Given the description of an element on the screen output the (x, y) to click on. 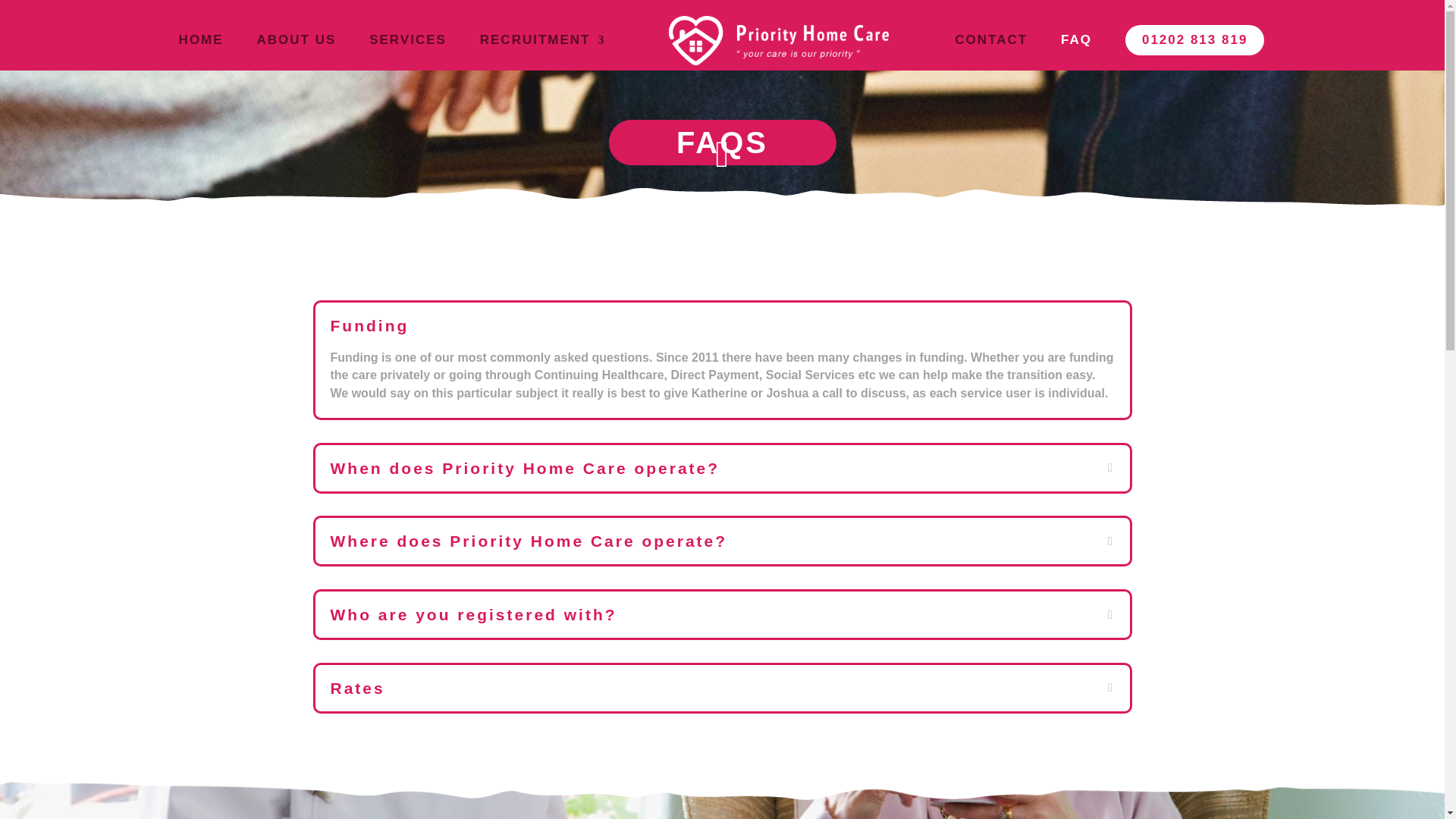
SERVICES (407, 52)
HOME (201, 52)
CONTACT (991, 52)
RECRUITMENT (542, 52)
01202 813 819 (1194, 40)
ABOUT US (296, 52)
